Given the description of an element on the screen output the (x, y) to click on. 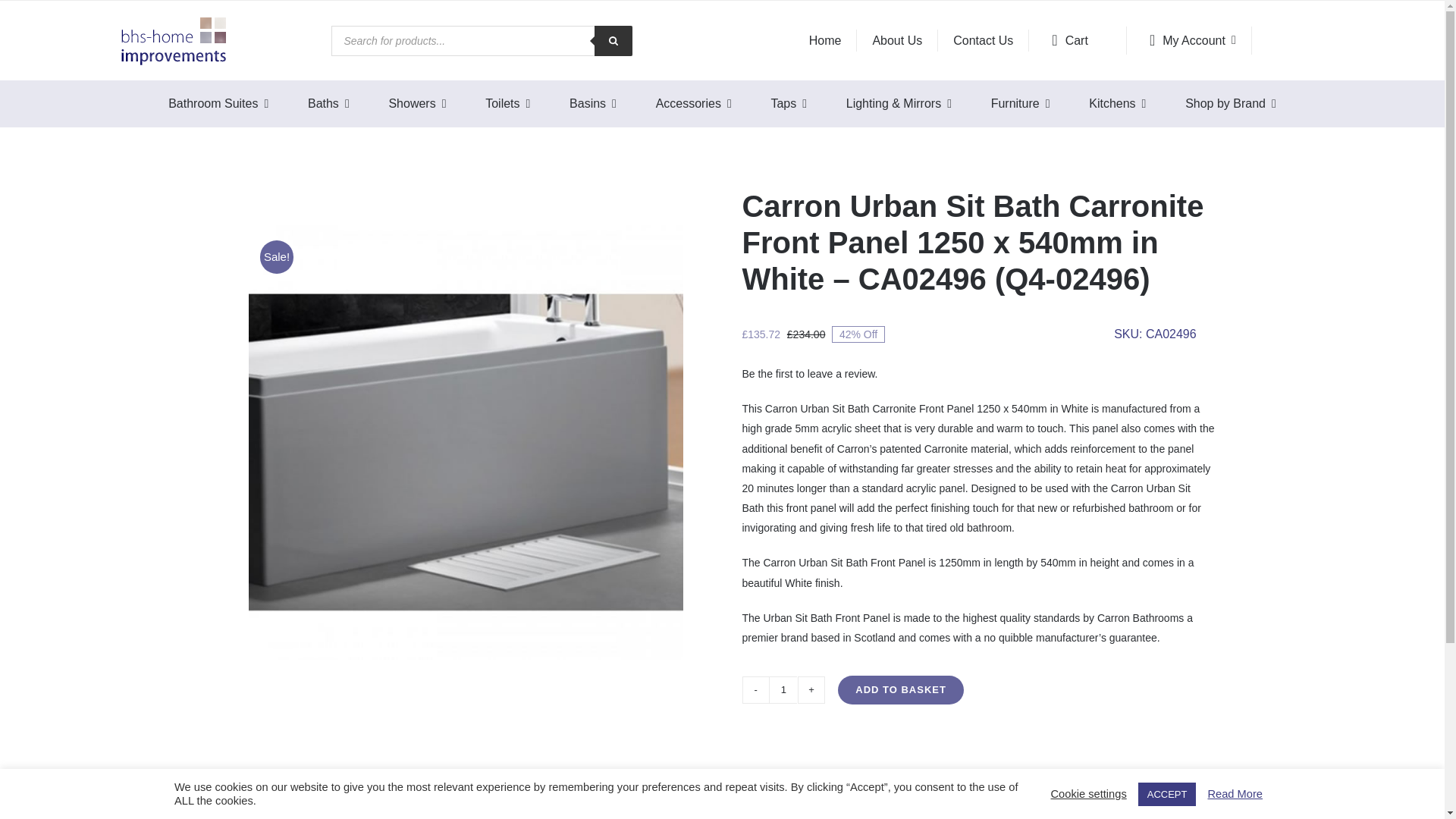
- (756, 689)
1 (783, 689)
Contact Us (983, 40)
My Account (1189, 40)
About Us (897, 40)
Home (825, 40)
Cart (1077, 40)
Log In (1209, 186)
